Given the description of an element on the screen output the (x, y) to click on. 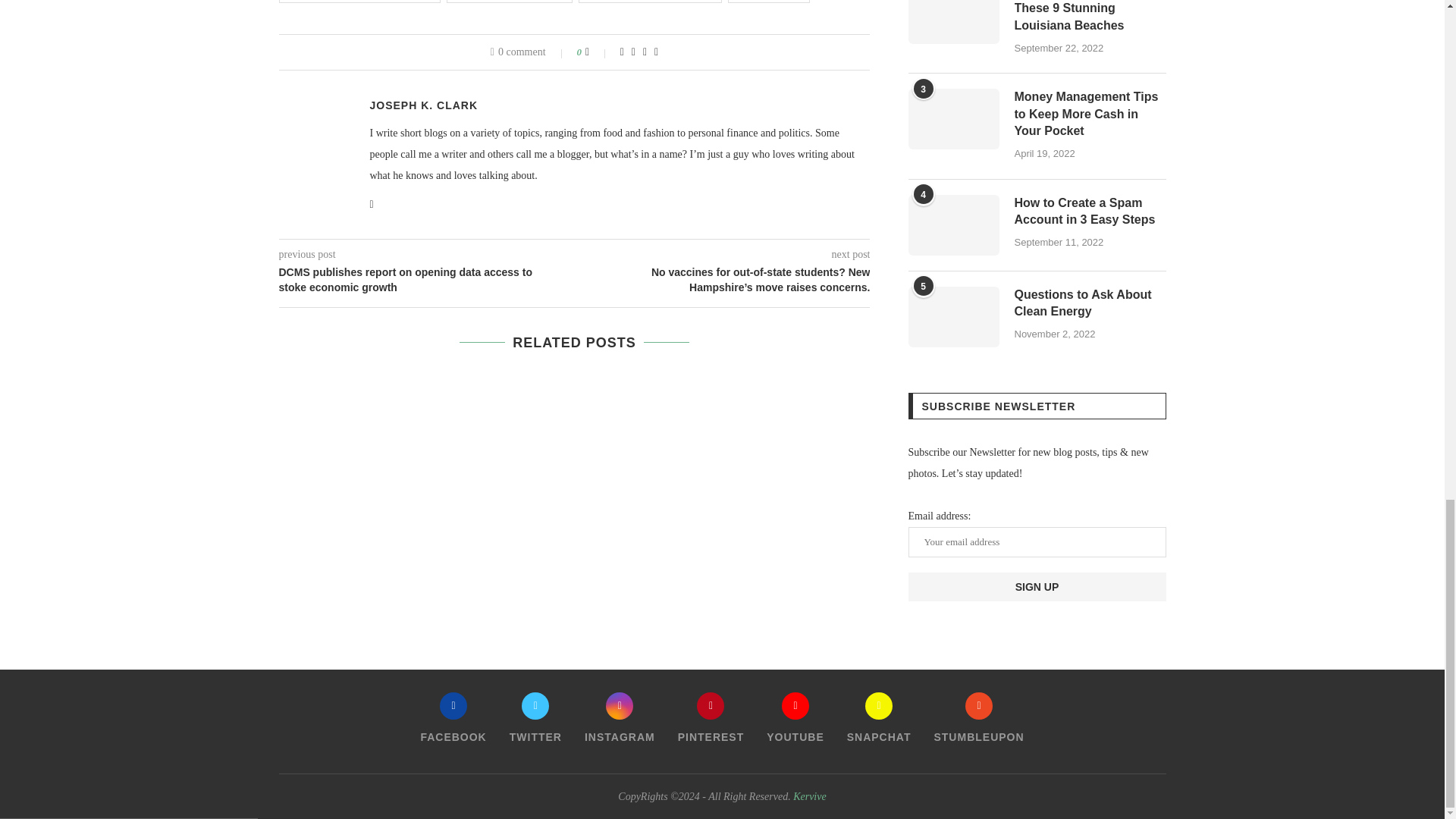
Sign up (1037, 586)
Like (597, 51)
Posts by Joseph K. Clark (424, 105)
